Given the description of an element on the screen output the (x, y) to click on. 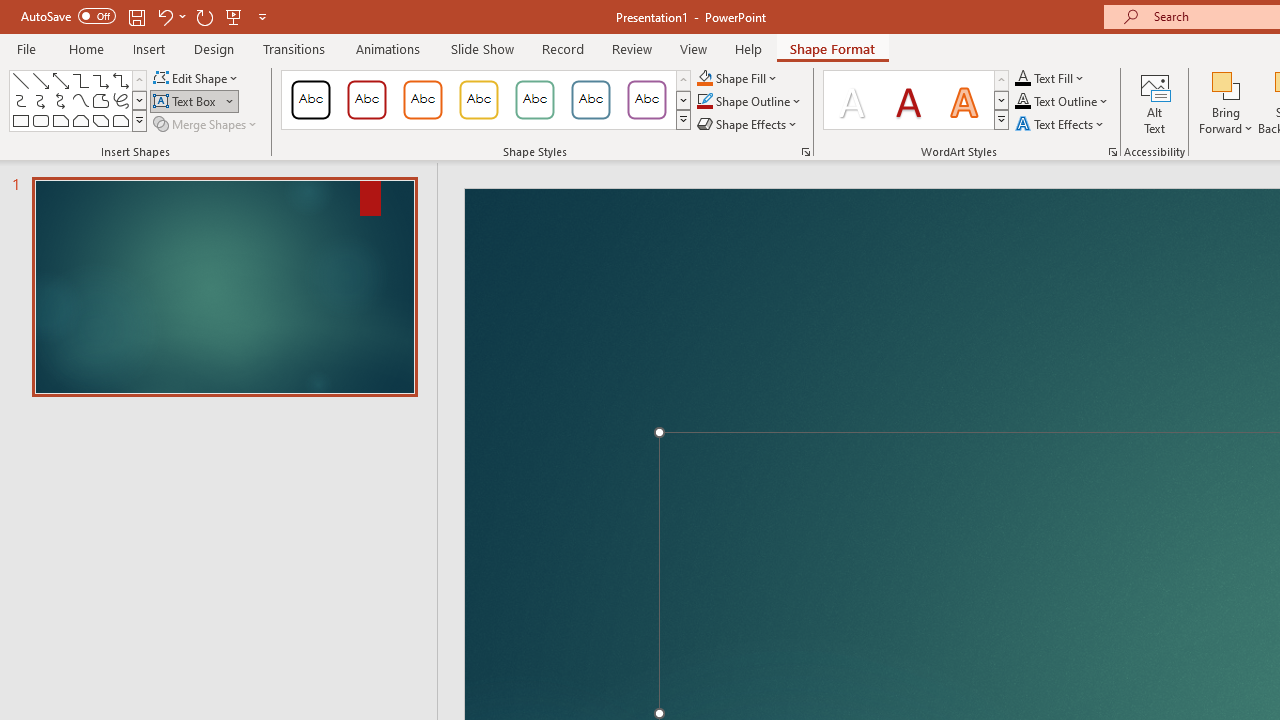
Colored Outline - Dark Red, Accent 1 (367, 100)
Colored Outline - Blue-Gray, Accent 5 (591, 100)
Colored Outline - Orange, Accent 2 (422, 100)
Connector: Curved Double-Arrow (60, 100)
Format Text Effects... (1112, 151)
Rectangle: Top Corners Snipped (80, 120)
AutomationID: TextStylesGallery (916, 99)
Colored Outline - Gold, Accent 3 (478, 100)
